Given the description of an element on the screen output the (x, y) to click on. 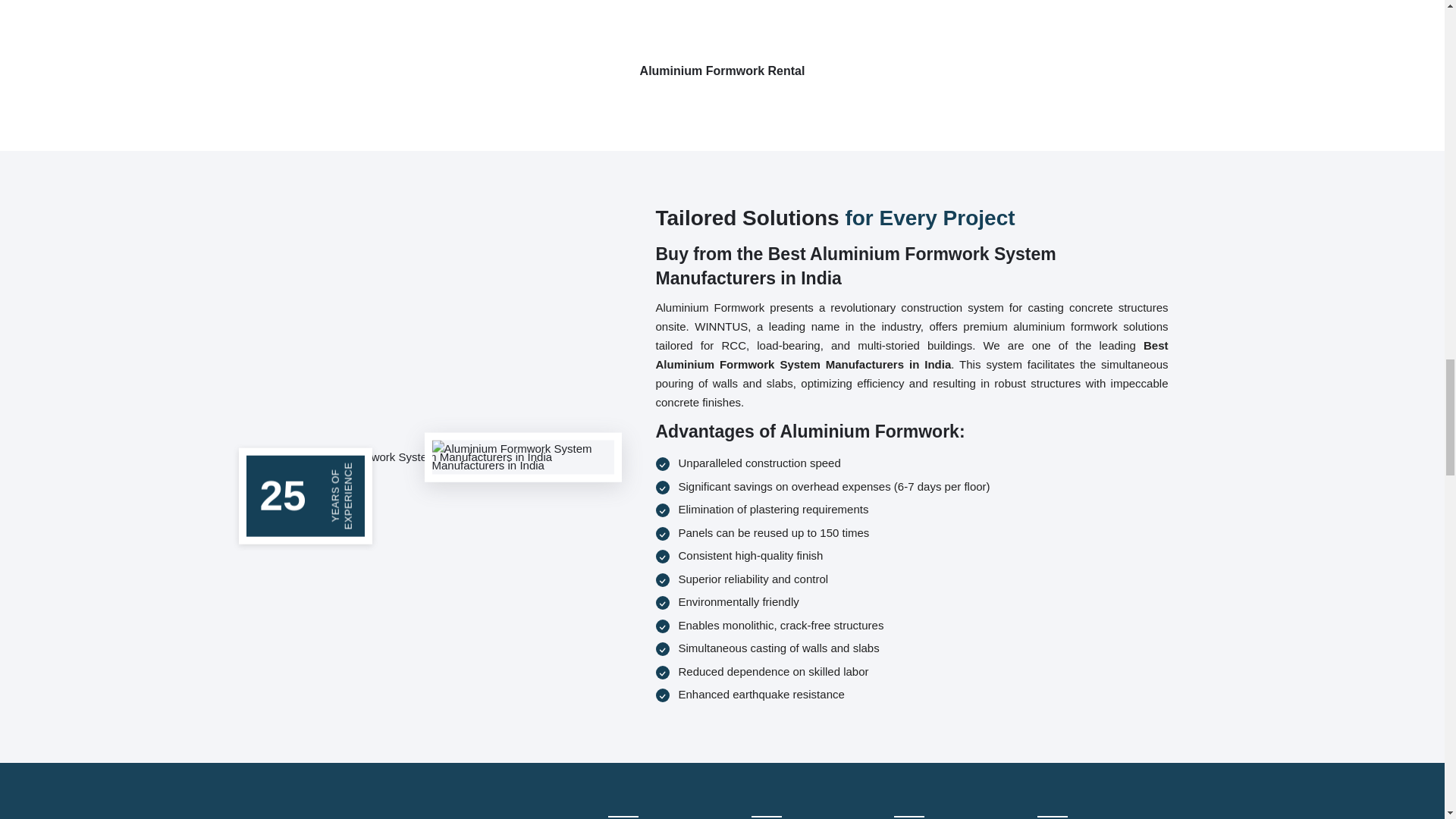
Aluminium Formwork Rental (721, 50)
